Given the description of an element on the screen output the (x, y) to click on. 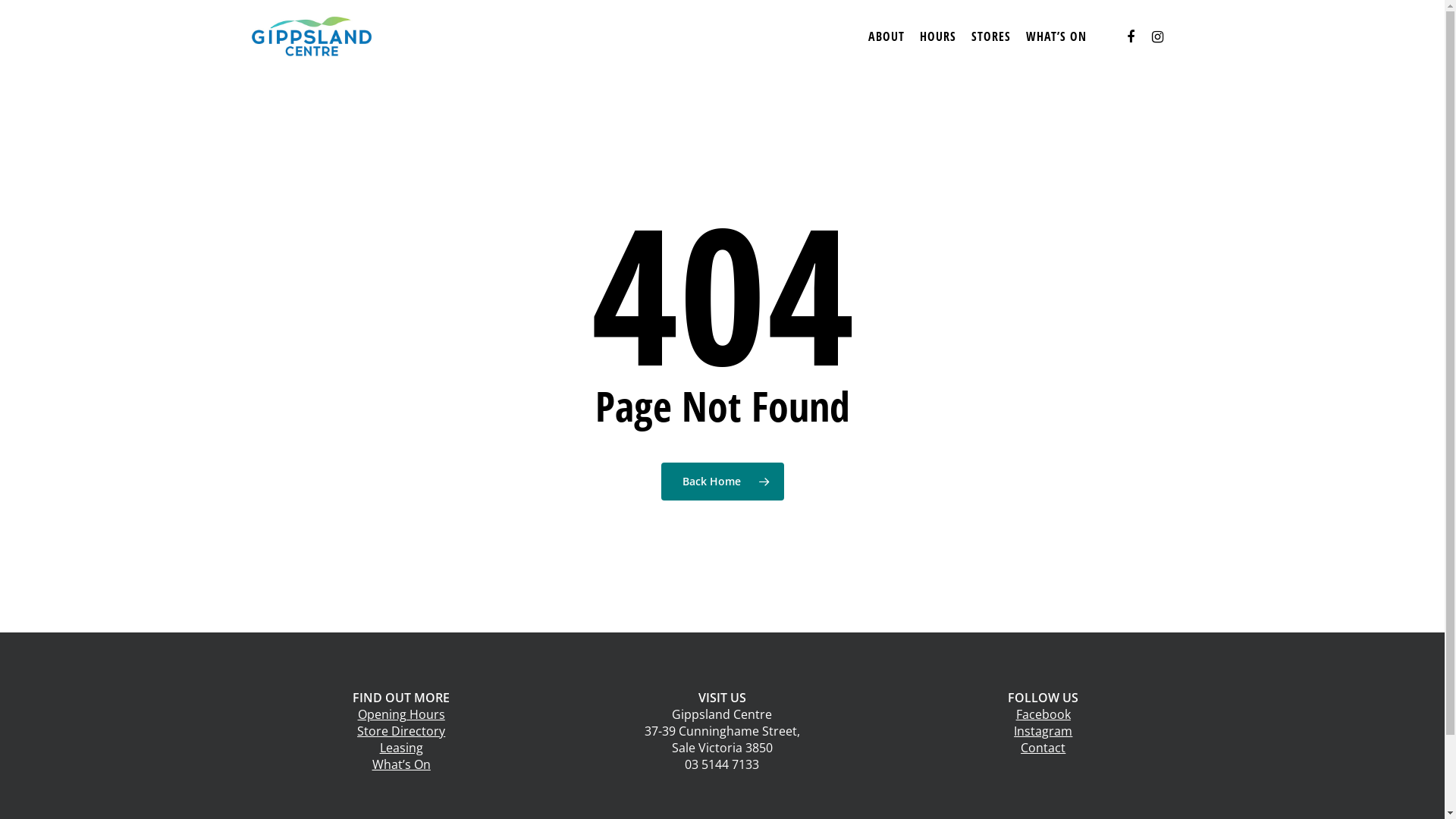
Store Directory Element type: text (401, 730)
Opening Hours Element type: text (401, 714)
Instagram Element type: text (1042, 730)
instagram Element type: text (1157, 36)
ABOUT Element type: text (886, 36)
STORES Element type: text (990, 36)
HOURS Element type: text (937, 36)
Leasing Element type: text (401, 747)
Back Home Element type: text (722, 481)
Contact Element type: text (1042, 747)
facebook Element type: text (1130, 36)
Facebook Element type: text (1043, 714)
